Given the description of an element on the screen output the (x, y) to click on. 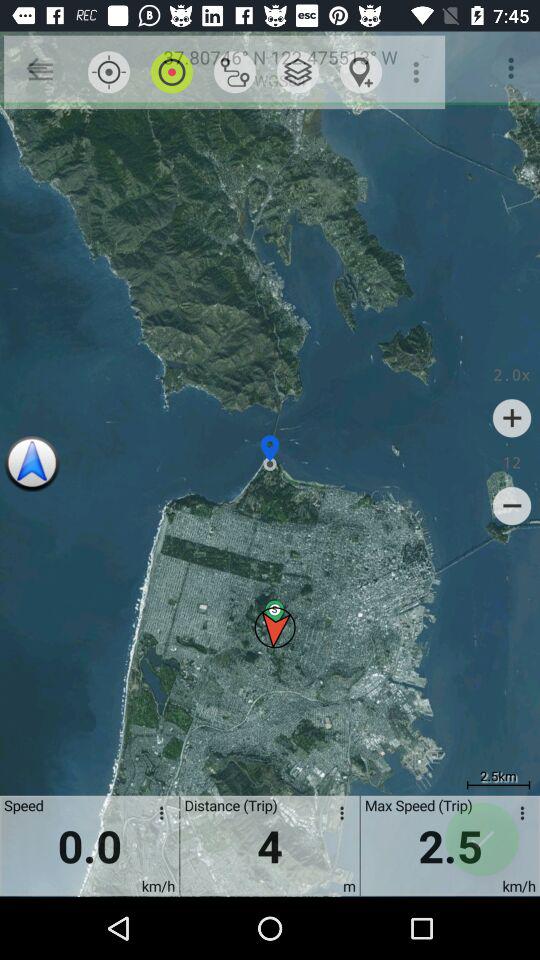
launch the item above 2.5 item (512, 505)
